Given the description of an element on the screen output the (x, y) to click on. 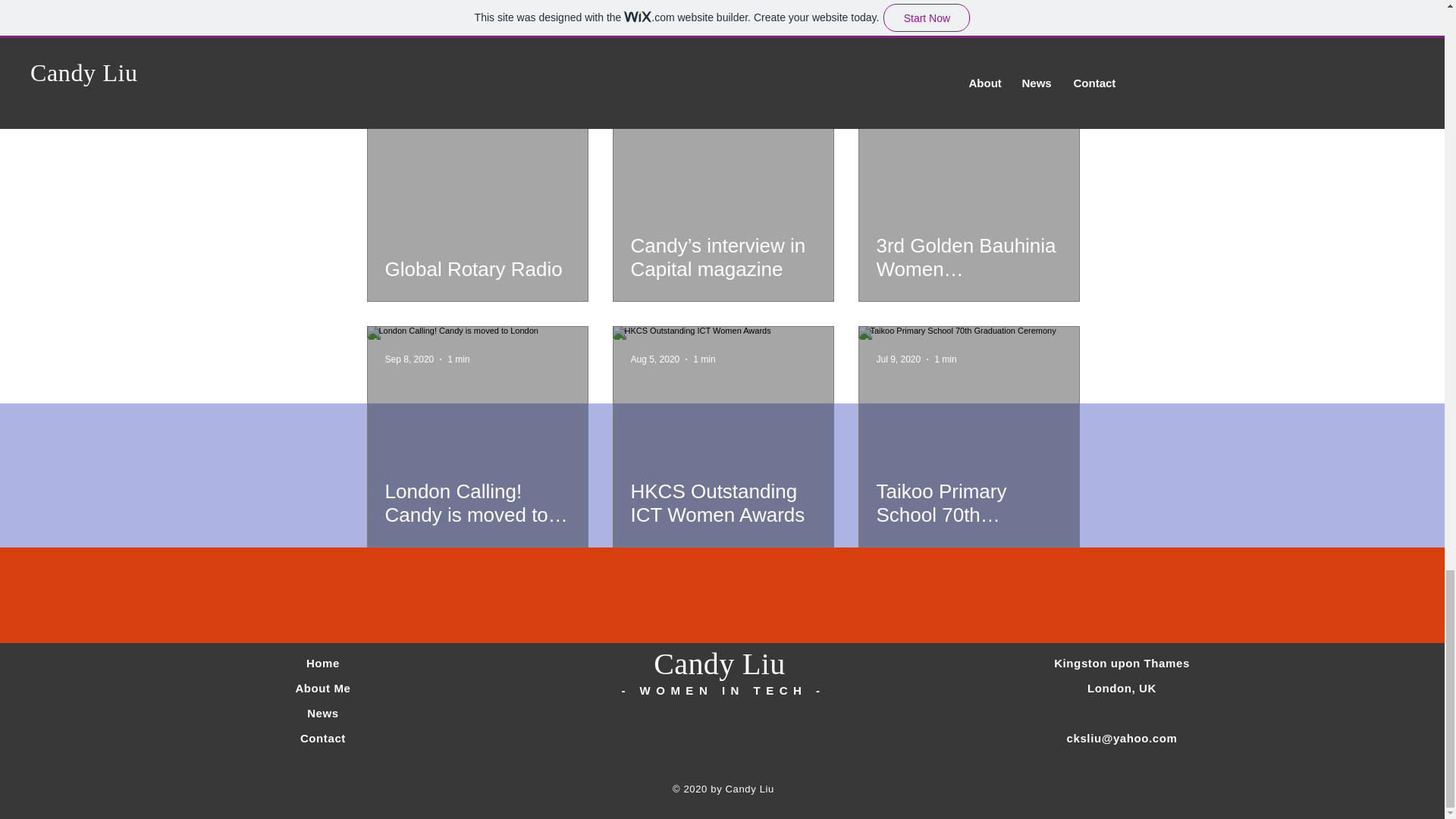
Taikoo Primary School 70th Graduation Ceremony (968, 503)
1 min (703, 113)
About Me (322, 687)
Contact (322, 738)
London Calling! Candy is moved to London (477, 503)
Mar 1, 2021 (654, 113)
1 min (703, 358)
1 min (457, 358)
1 min (954, 113)
1 min (457, 113)
